Given the description of an element on the screen output the (x, y) to click on. 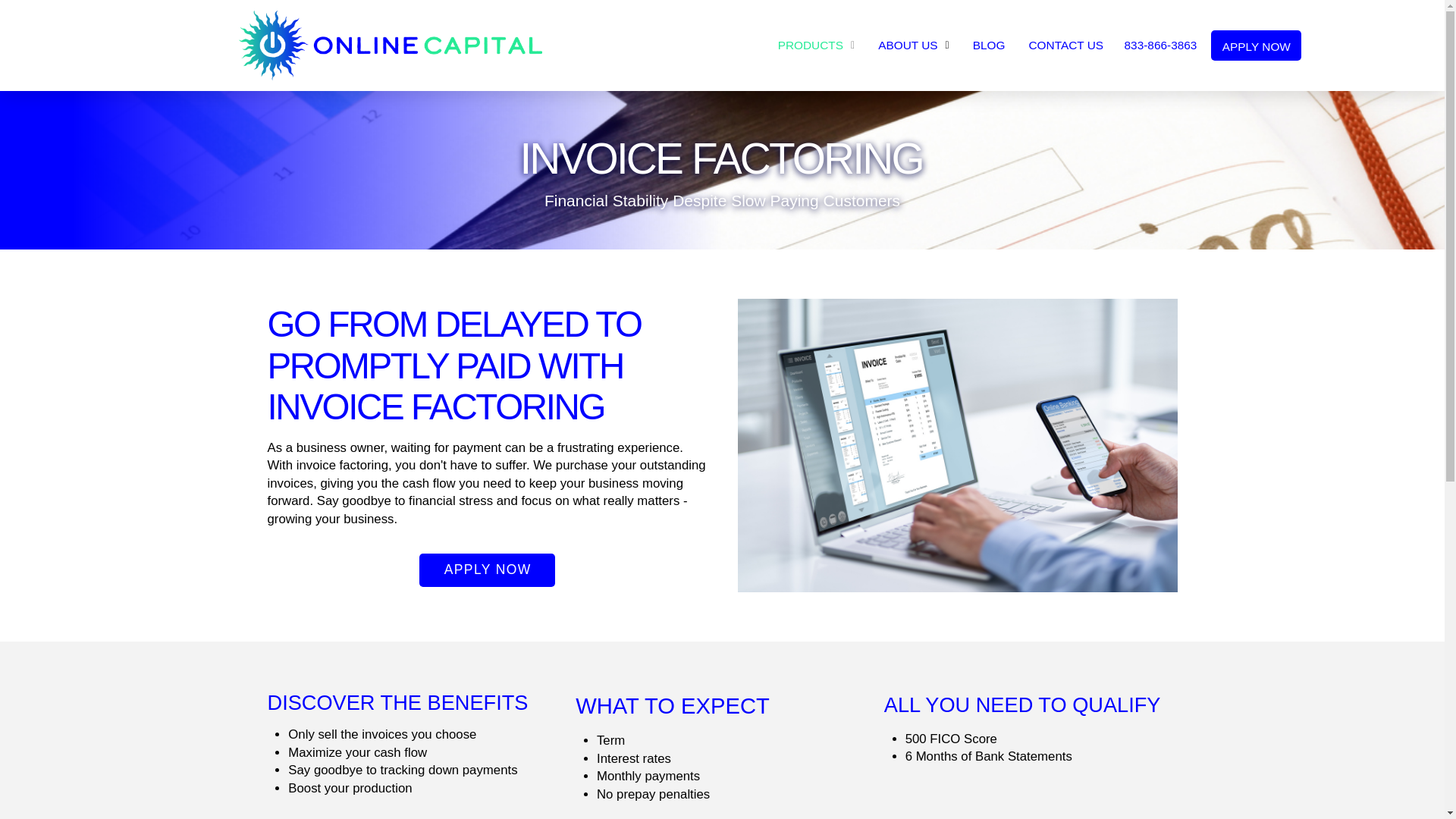
CONTACT US (1065, 45)
APPLY NOW (1256, 44)
APPLY NOW (487, 570)
833-866-3863 (1163, 45)
ABOUT US (913, 45)
PRODUCTS (815, 45)
